Given the description of an element on the screen output the (x, y) to click on. 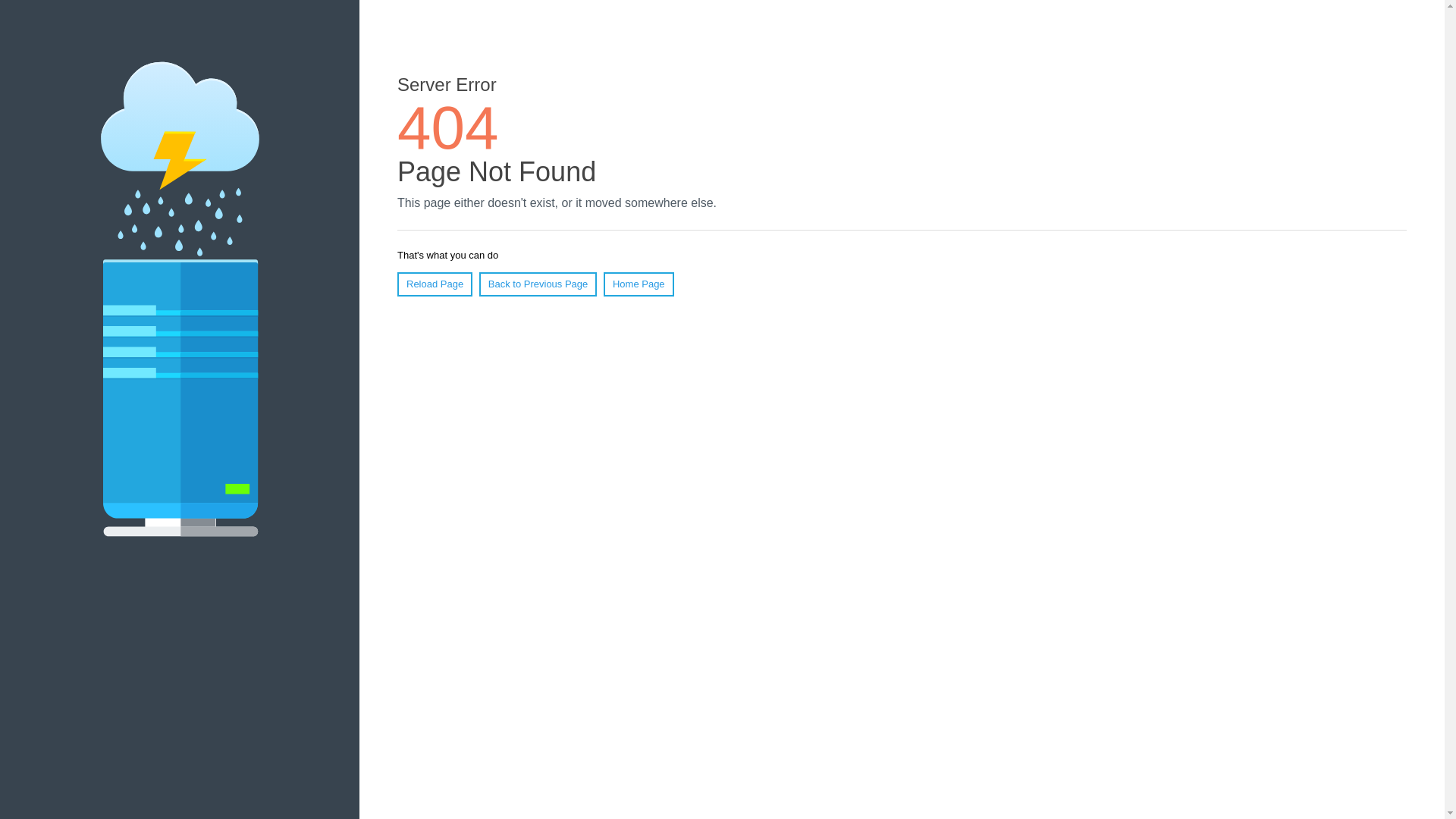
Back to Previous Page Element type: text (538, 284)
Home Page Element type: text (638, 284)
Reload Page Element type: text (434, 284)
